Given the description of an element on the screen output the (x, y) to click on. 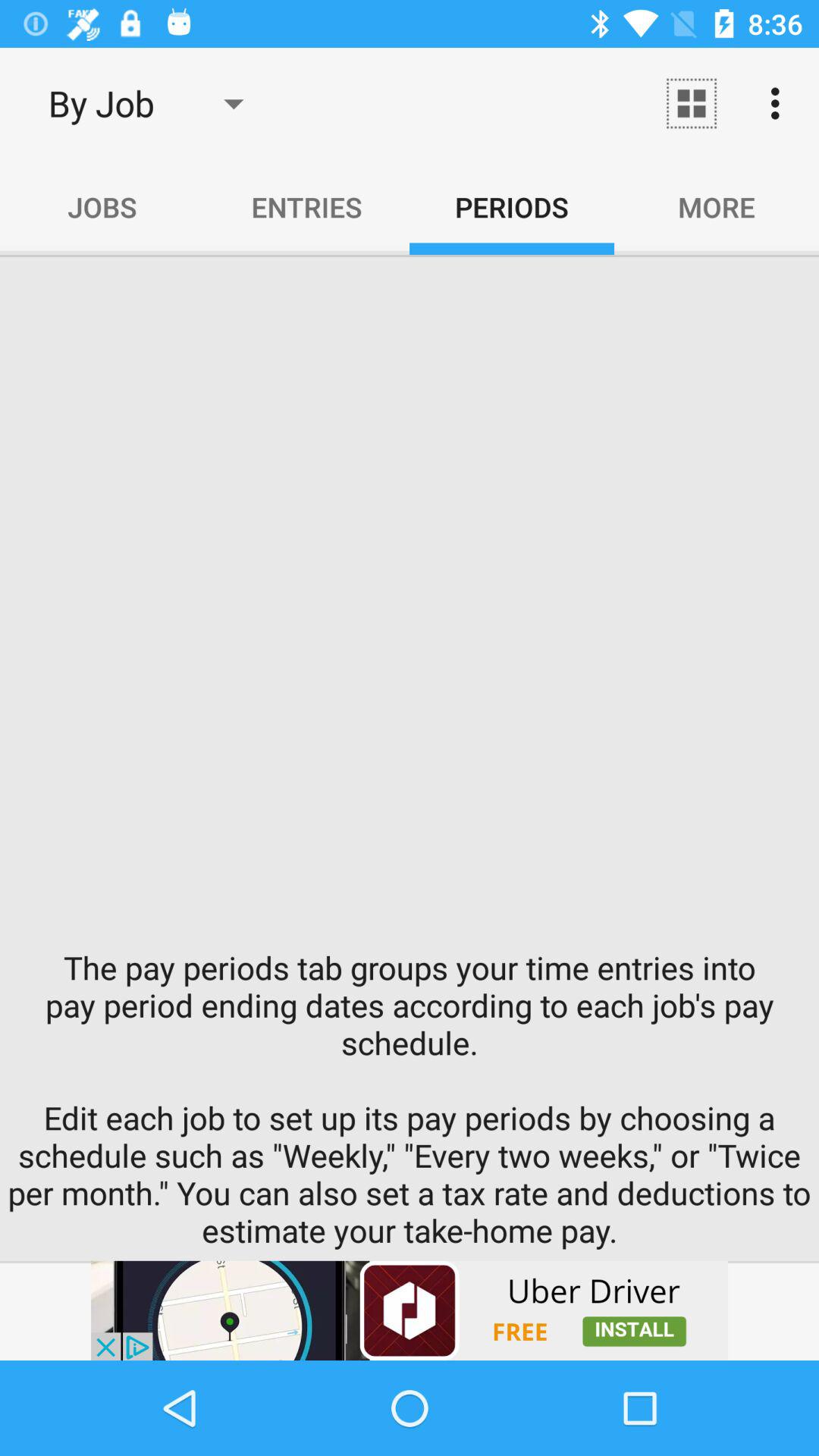
advertisement bar (409, 1310)
